Given the description of an element on the screen output the (x, y) to click on. 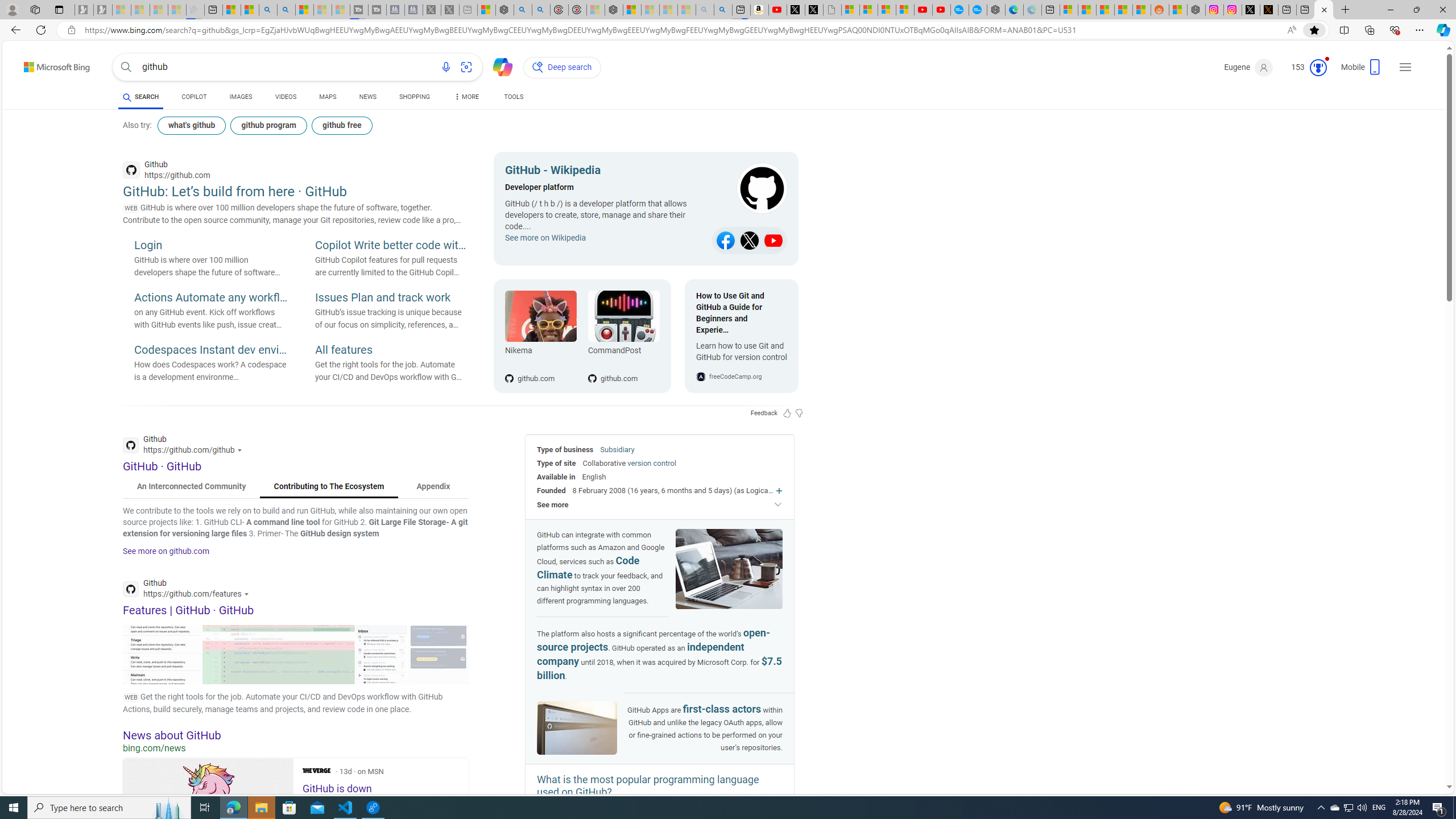
Founded (551, 490)
what's github (191, 125)
Eugene (1249, 67)
Available in (556, 476)
Search using voice (445, 66)
VIDEOS (285, 98)
Issues Plan and track work (391, 298)
See more on github.com (165, 551)
